Given the description of an element on the screen output the (x, y) to click on. 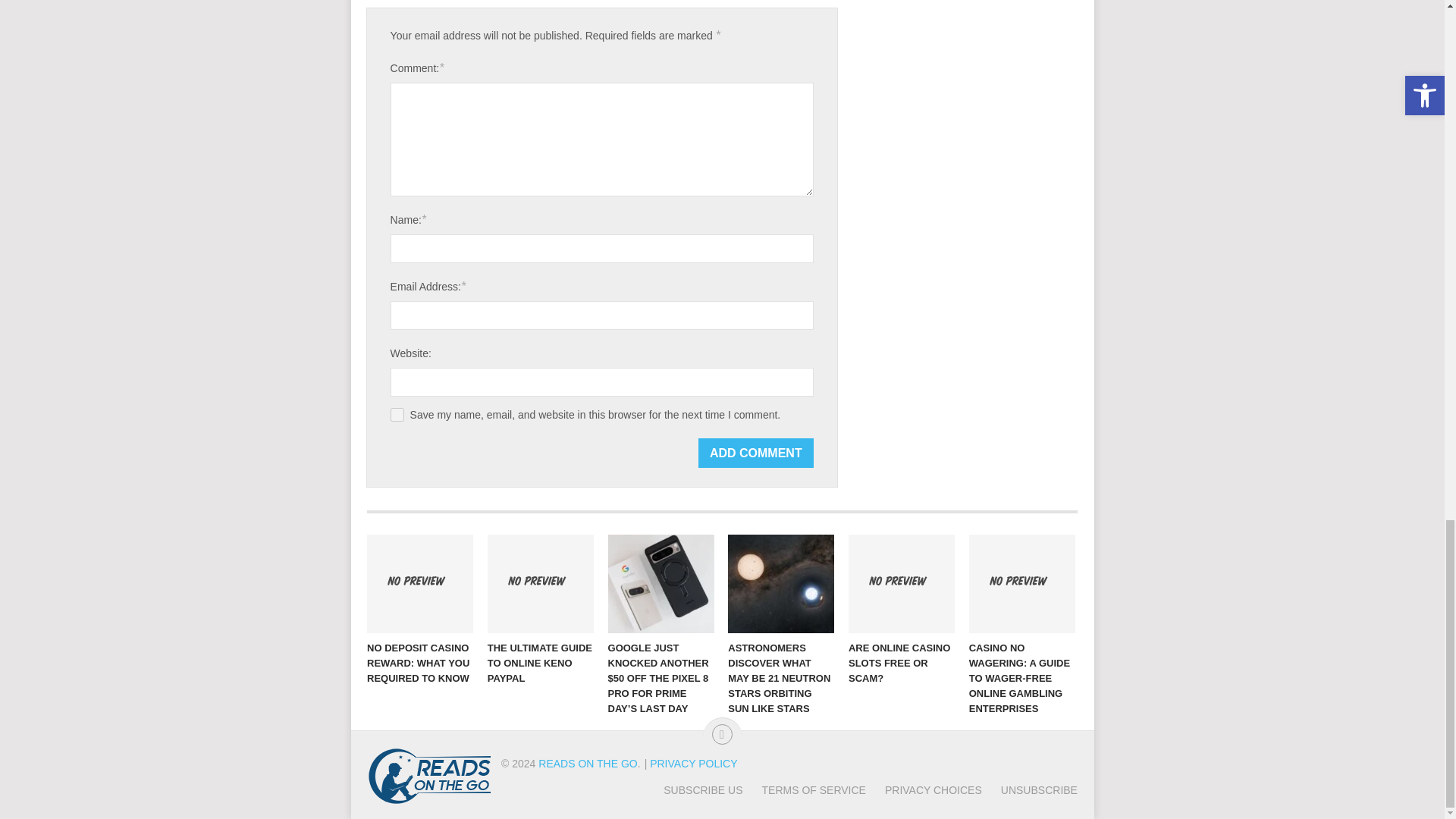
Add Comment (755, 452)
yes (397, 414)
Add Comment (755, 452)
No Deposit Casino Reward: What You Required to Know (419, 583)
The Ultimate Guide to Online Keno PayPal (540, 583)
